Given the description of an element on the screen output the (x, y) to click on. 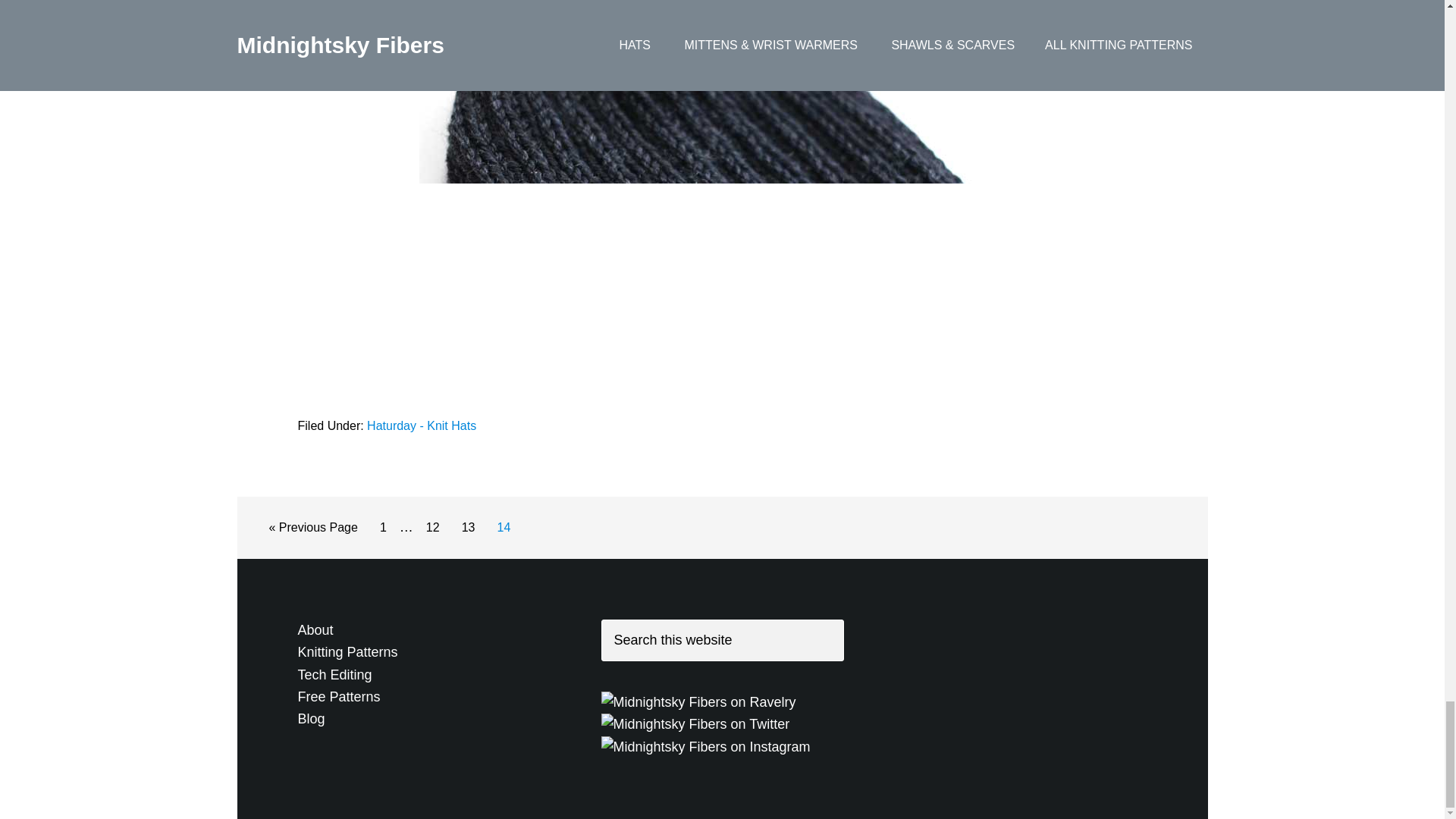
Knitting Patterns (347, 652)
About (315, 630)
Haturday - Knit Hats (468, 527)
Search (432, 527)
Search (421, 425)
